Given the description of an element on the screen output the (x, y) to click on. 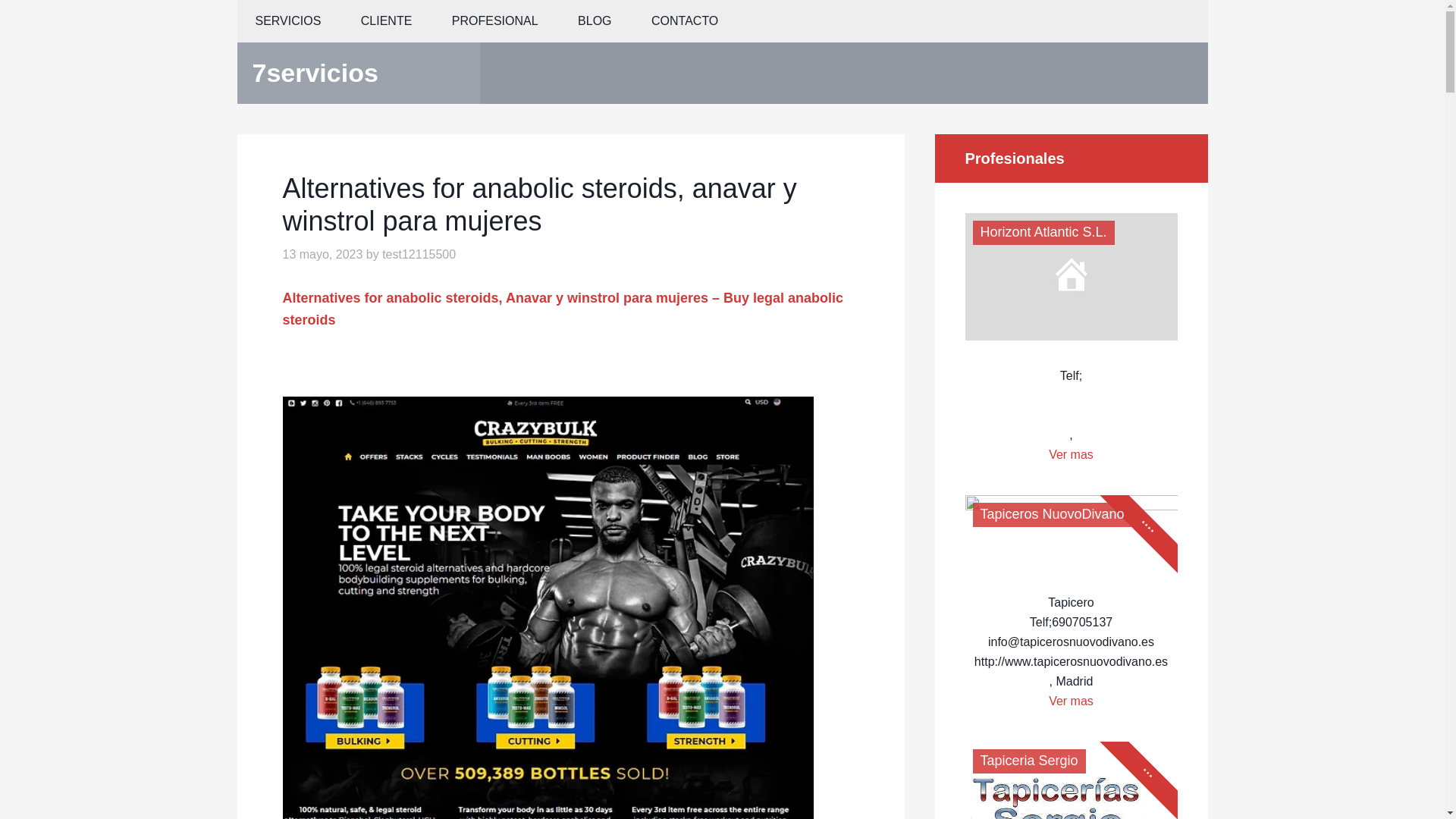
SERVICIOS (287, 21)
